Given the description of an element on the screen output the (x, y) to click on. 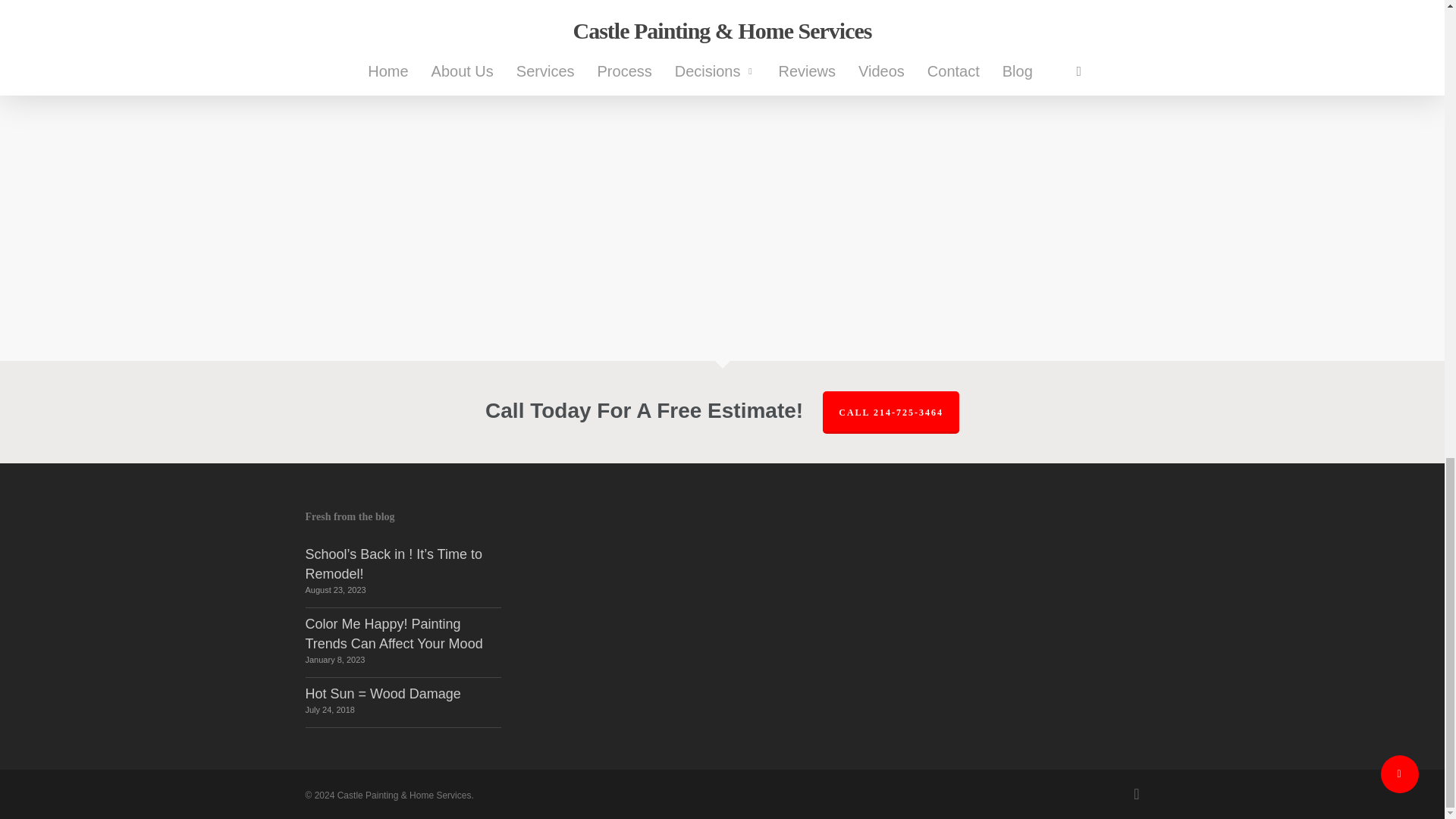
CALL 214-725-3464 (890, 412)
Color Me Happy! Painting Trends Can Affect Your Mood (392, 633)
facebook (1136, 793)
